Given the description of an element on the screen output the (x, y) to click on. 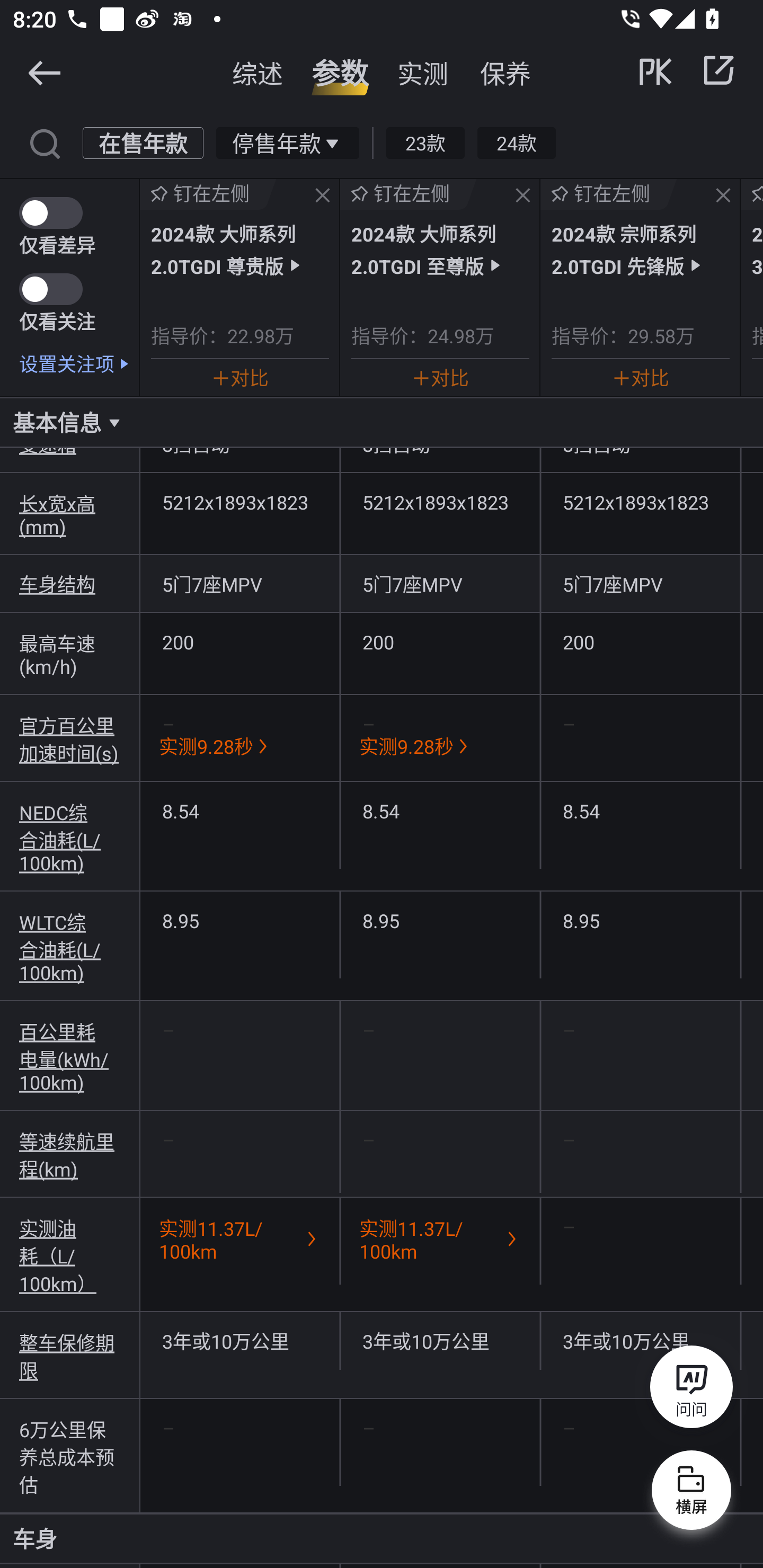
  (688, 70)
综述 (257, 72)
实测 (422, 72)
保养 (505, 72)
 (718, 70)
 (44, 71)
 (44, 142)
在售年款 (142, 142)
停售年款  (287, 142)
23款 (425, 142)
24款 (516, 142)
 钉在左侧 (207, 194)
 (322, 195)
 钉在左侧 (408, 194)
 (522, 195)
 钉在左侧 (608, 194)
 (722, 195)
2024款 大师系列 2.0TGDI 尊贵版  (239, 249)
2024款 大师系列 2.0TGDI 至尊版  (439, 249)
2024款 宗师系列 2.0TGDI 先锋版  (640, 249)
设置关注项  (79, 363)
对比 (239, 377)
对比 (440, 377)
对比 (640, 377)
基本信息  (381, 422)
5212x1893x1823 (239, 502)
5212x1893x1823 (440, 502)
5212x1893x1823 (640, 502)
长x宽x高(mm) (69, 514)
5门7座MPV (239, 584)
5门7座MPV (440, 584)
5门7座MPV (640, 584)
车身结构 (69, 583)
200 (239, 642)
200 (440, 642)
200 (640, 642)
最高车速(km/h) (69, 653)
官方百公里加速时间(s) (69, 738)
实测9.28秒  (239, 745)
实测9.28秒  (440, 745)
8.54 (239, 810)
8.54 (440, 810)
8.54 (640, 810)
NEDC综合油耗(L/100km) (69, 836)
8.95 (239, 920)
8.95 (440, 920)
8.95 (640, 920)
WLTC综合油耗(L/100km) (69, 945)
百公里耗电量(kWh/100km) (69, 1055)
等速续航里程(km) (69, 1154)
实测油耗（L/100km） (69, 1254)
实测11.37L/100km  (239, 1238)
实测11.37L/100km  (440, 1238)
3年或10万公里 (239, 1341)
3年或10万公里 (440, 1341)
3年或10万公里 (640, 1341)
整车保修期限 (69, 1355)
 问问 (691, 1389)
6万公里保养总成本预估 (69, 1455)
